Given the description of an element on the screen output the (x, y) to click on. 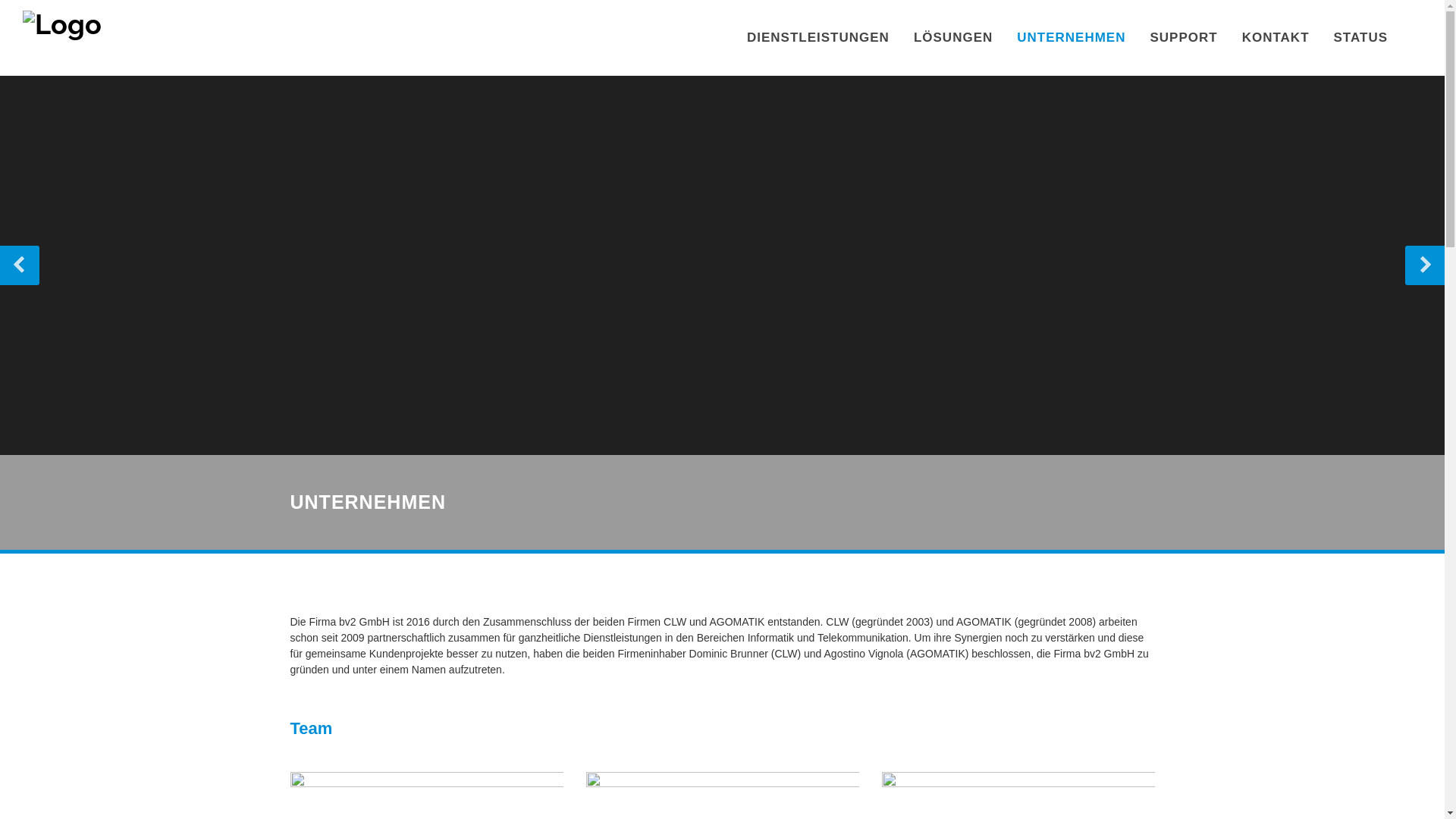
KONTAKT Element type: text (1275, 37)
DIENSTLEISTUNGEN Element type: text (817, 37)
UNTERNEHMEN Element type: text (1070, 37)
STATUS Element type: text (1360, 37)
SUPPORT Element type: text (1183, 37)
